Given the description of an element on the screen output the (x, y) to click on. 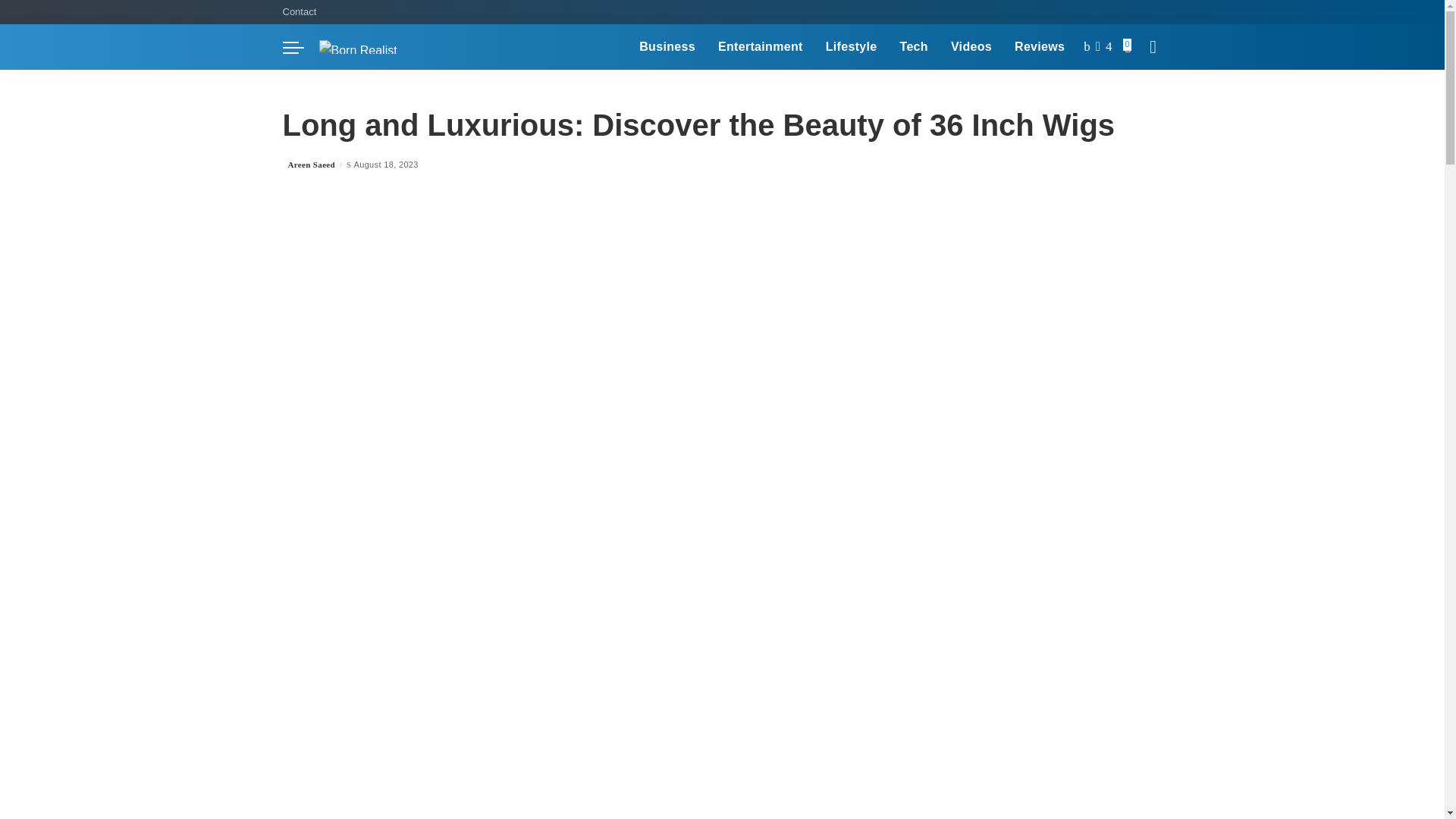
Contact (301, 11)
Born Realist (357, 47)
Lifestyle (850, 46)
Search (1140, 89)
Entertainment (759, 46)
Business (666, 46)
Reviews (1039, 46)
Videos (971, 46)
Tech (913, 46)
